Given the description of an element on the screen output the (x, y) to click on. 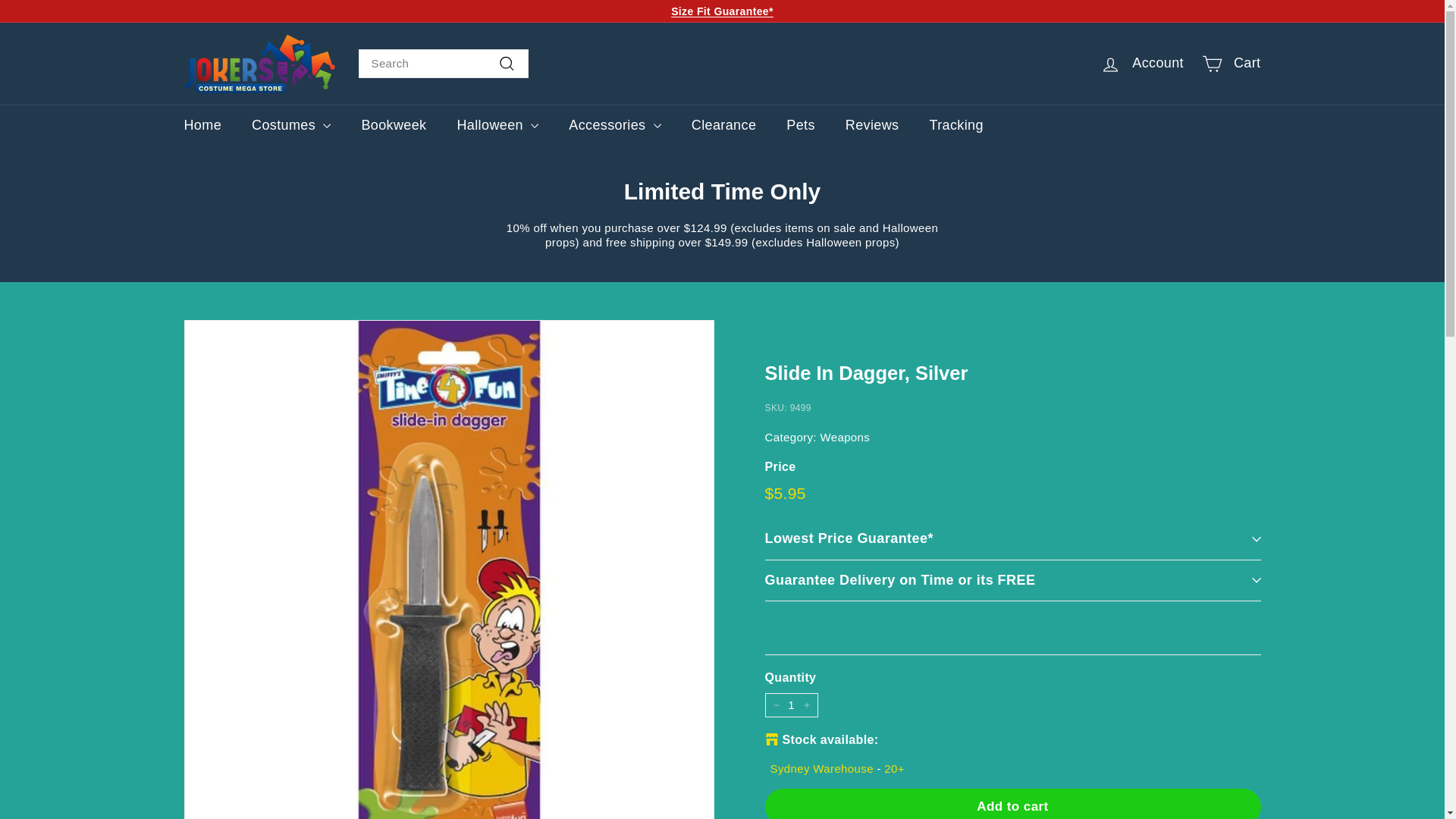
Size Guarantee (722, 10)
Account (1141, 62)
1 (790, 704)
Home (201, 125)
Cart (1230, 62)
